Given the description of an element on the screen output the (x, y) to click on. 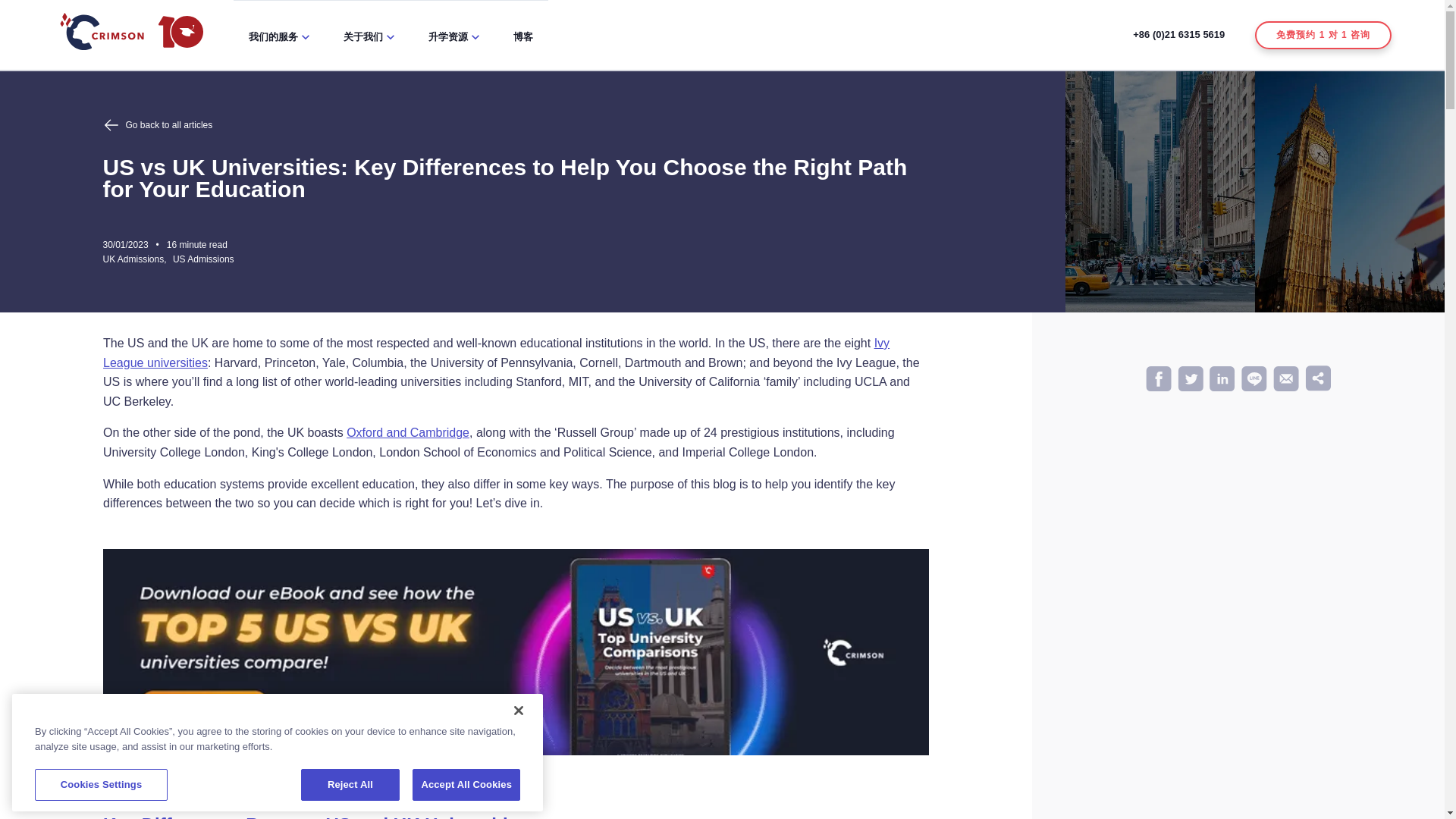
Go back to all articles (513, 125)
US Admissions (203, 258)
Ivy League universities (496, 352)
Oxford and Cambridge (407, 431)
UK Admissions, (138, 258)
